Given the description of an element on the screen output the (x, y) to click on. 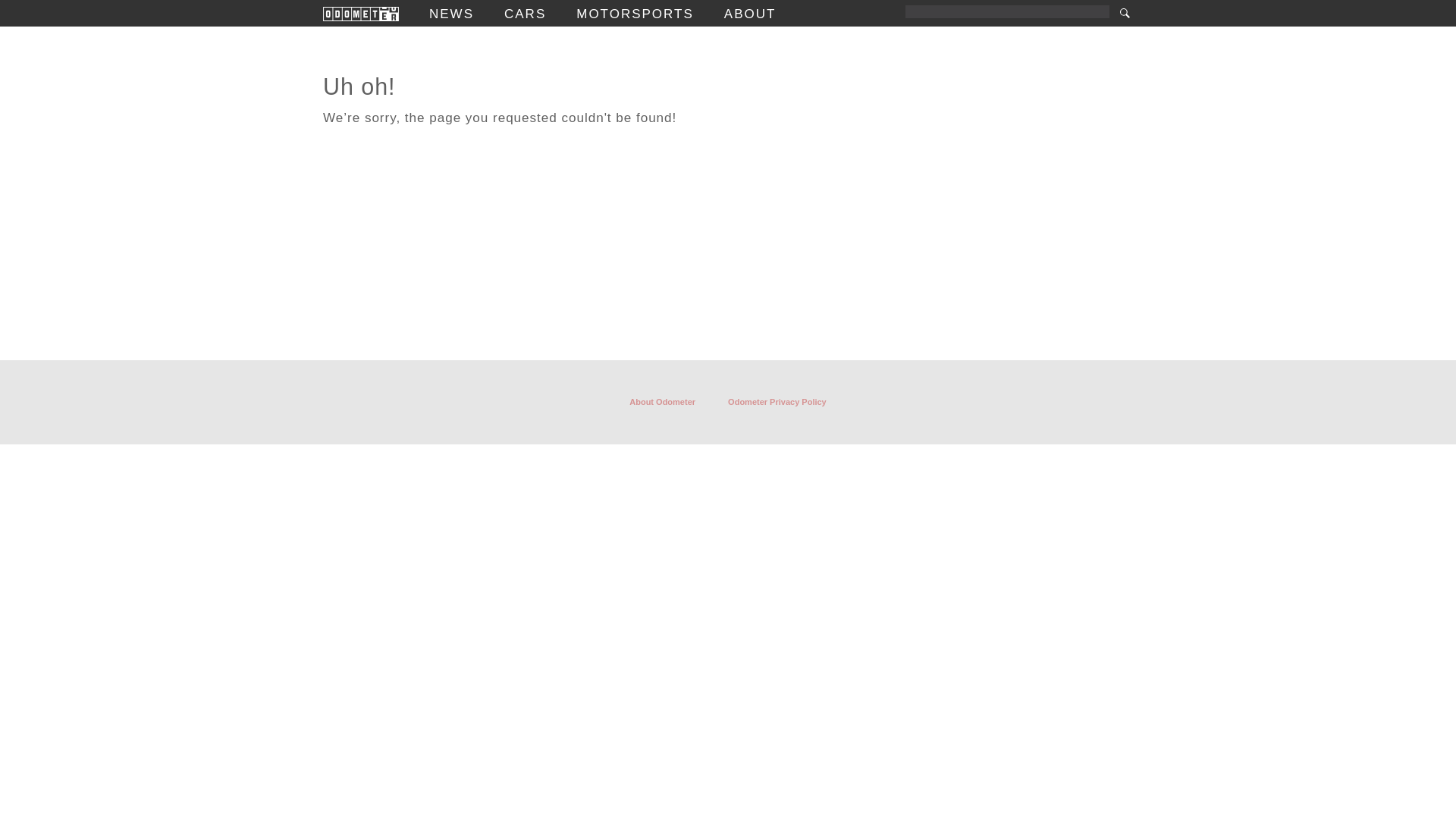
Search (1124, 12)
MOTORSPORTS (635, 13)
Search (1124, 12)
Odometer (360, 13)
Odometer Privacy Policy (777, 402)
Search (1124, 12)
About Odometer (662, 402)
NEWS (451, 13)
CARS (524, 13)
ABOUT (749, 13)
